Given the description of an element on the screen output the (x, y) to click on. 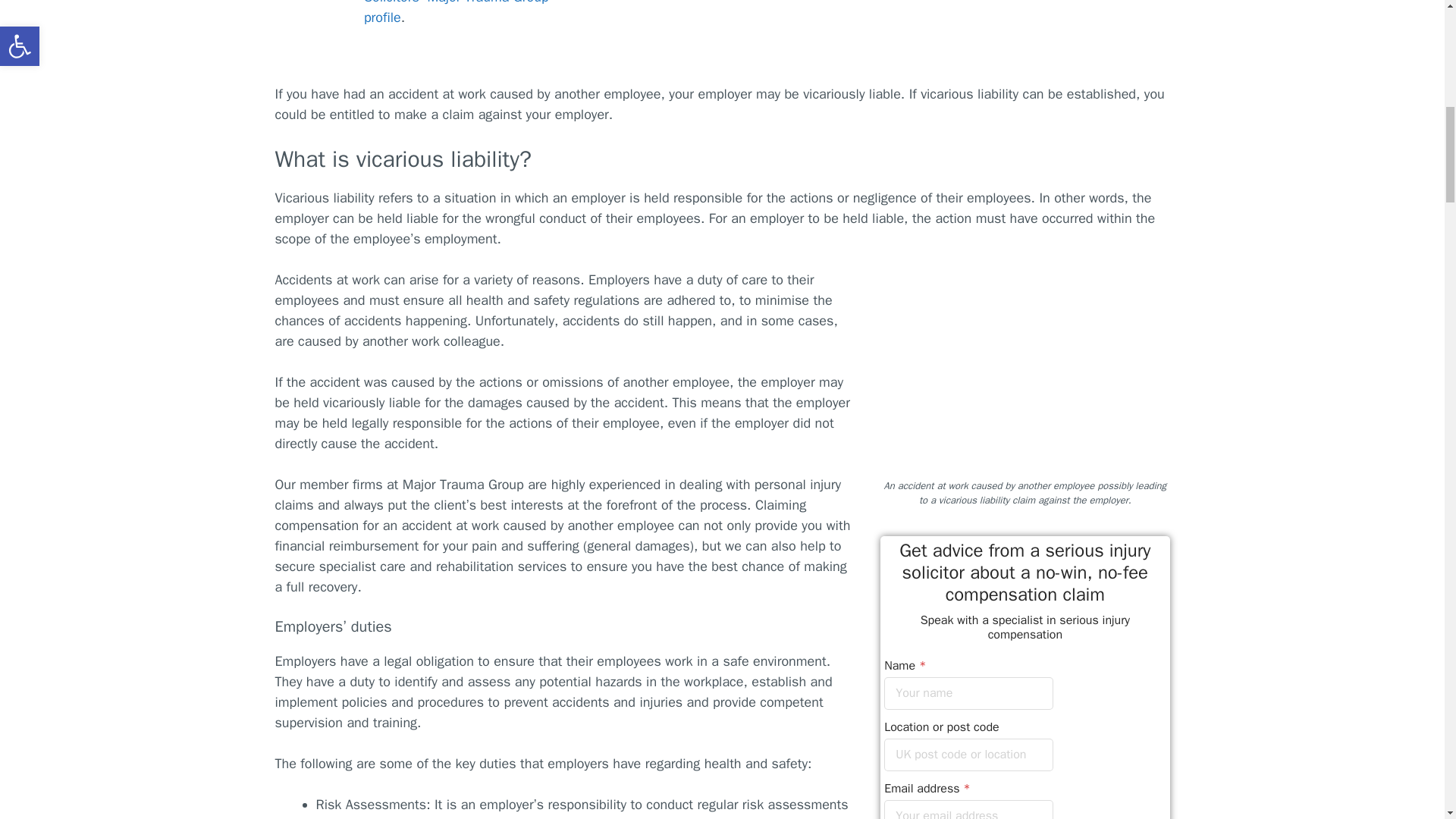
About Martin Usher and Lime Solicitors (456, 12)
